Given the description of an element on the screen output the (x, y) to click on. 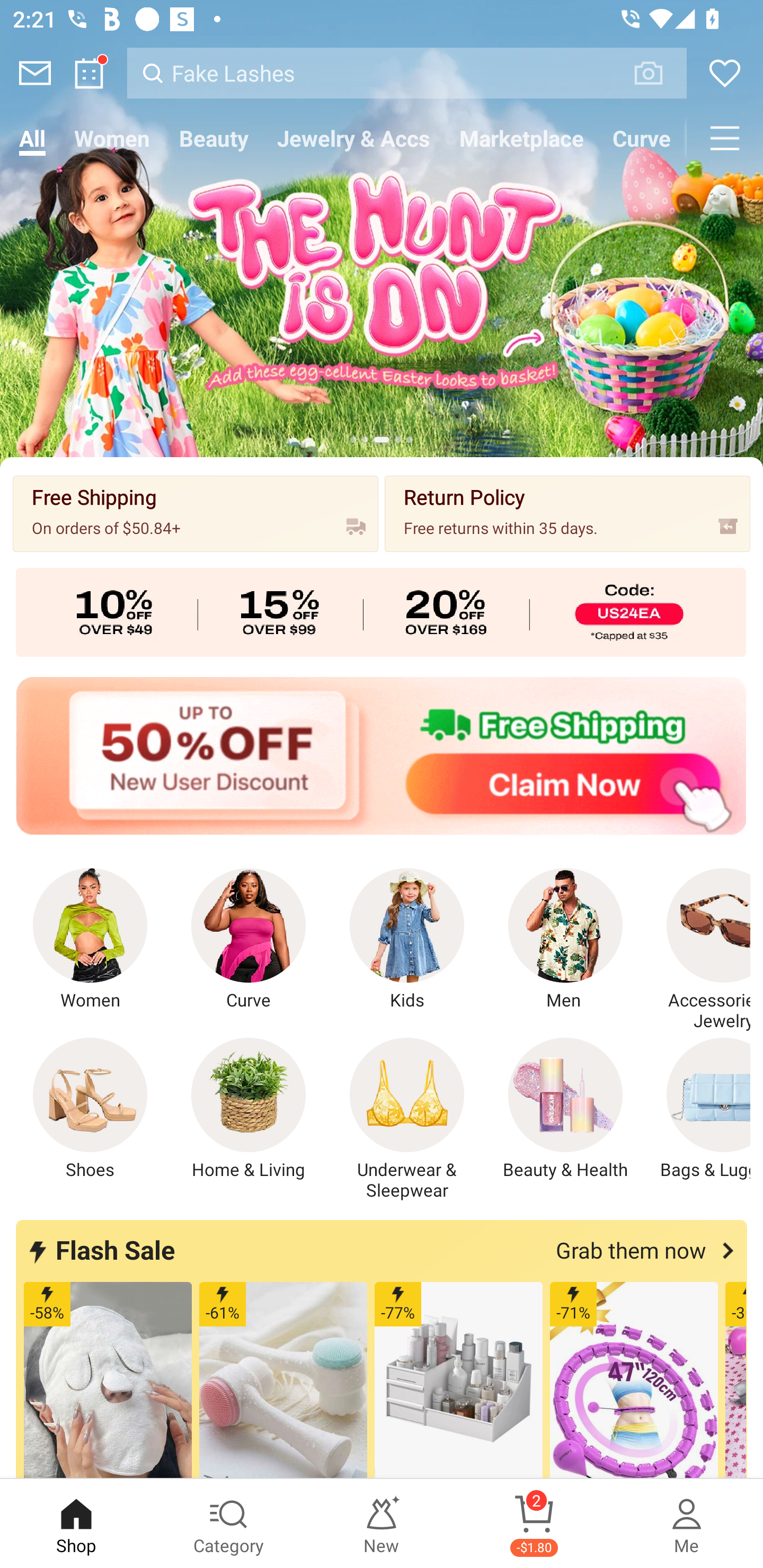
Wishlist (724, 72)
VISUAL SEARCH (657, 72)
All (31, 137)
Women (111, 137)
Beauty (213, 137)
Jewelry & Accs (353, 137)
Marketplace (521, 137)
Curve (641, 137)
Free Shipping On orders of $50.84+ (195, 513)
Return Policy Free returns within 35 days. (567, 513)
Women (89, 939)
Curve (248, 939)
Kids (406, 939)
Men  (565, 939)
Accessories & Jewelry (698, 949)
Shoes (89, 1109)
Home & Living (248, 1109)
Underwear & Sleepwear (406, 1119)
Beauty & Health (565, 1109)
Bags & Luggage (698, 1109)
Category (228, 1523)
New (381, 1523)
Cart 2 -$1.80 (533, 1523)
Me (686, 1523)
